Given the description of an element on the screen output the (x, y) to click on. 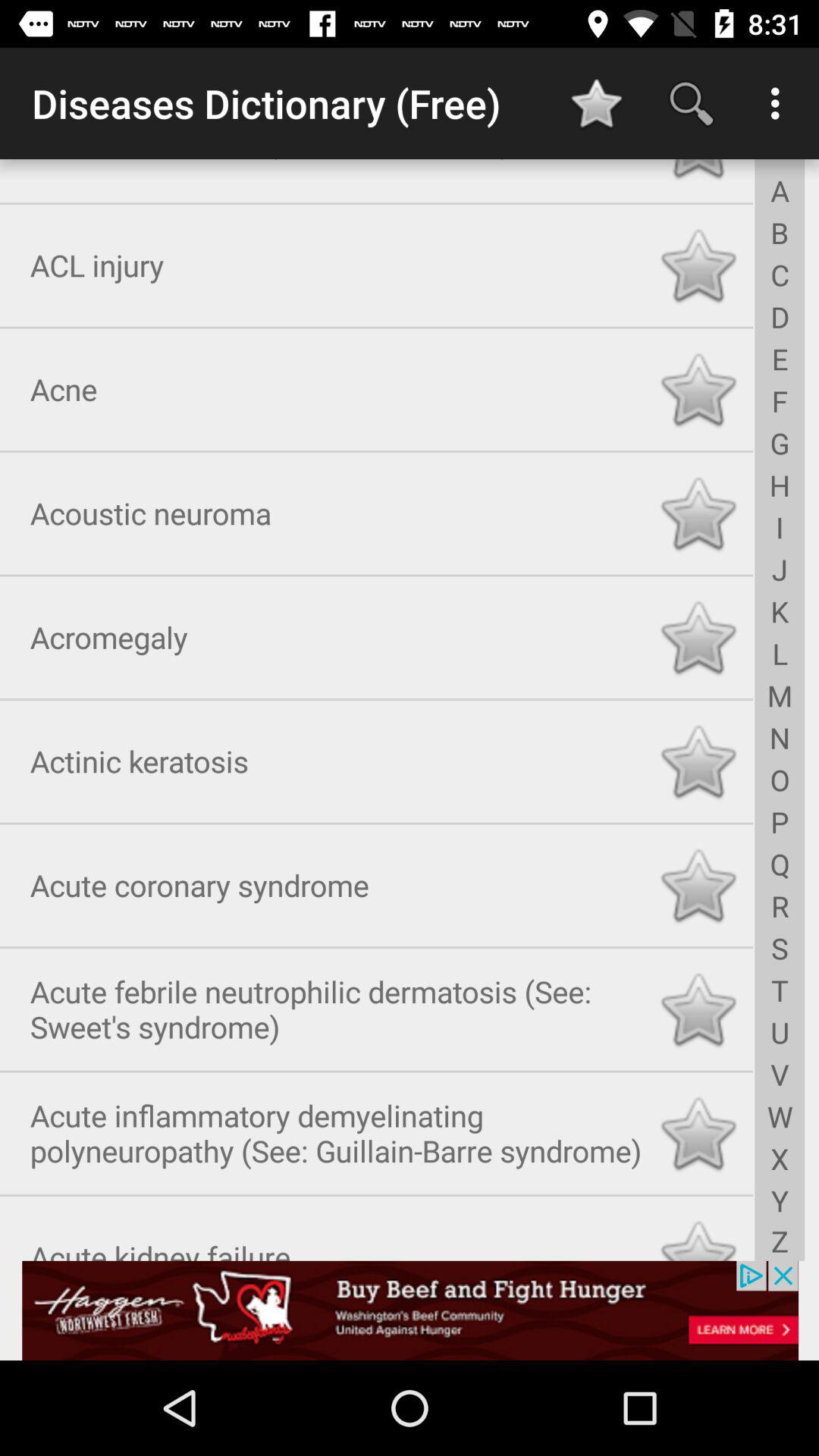
like (697, 1006)
